Given the description of an element on the screen output the (x, y) to click on. 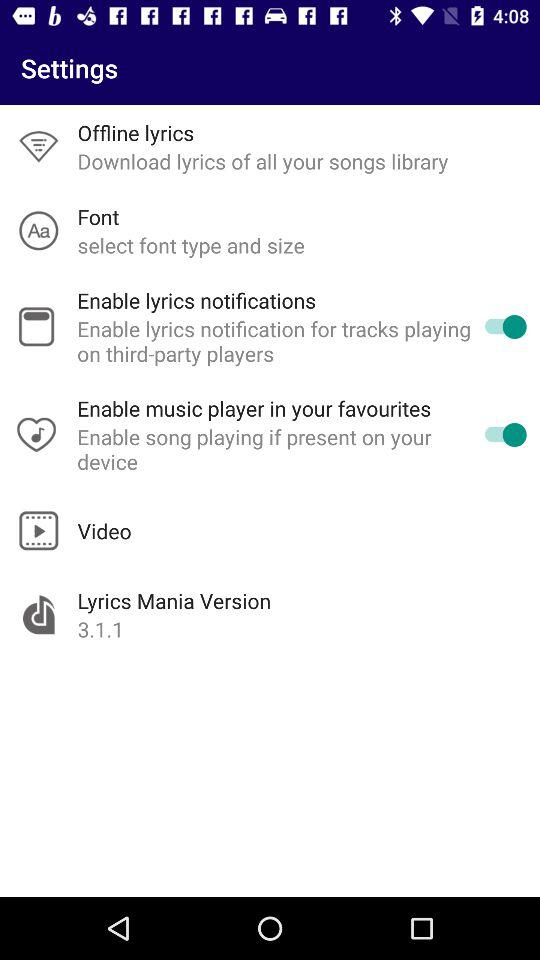
launch the app above download lyrics of (135, 132)
